Given the description of an element on the screen output the (x, y) to click on. 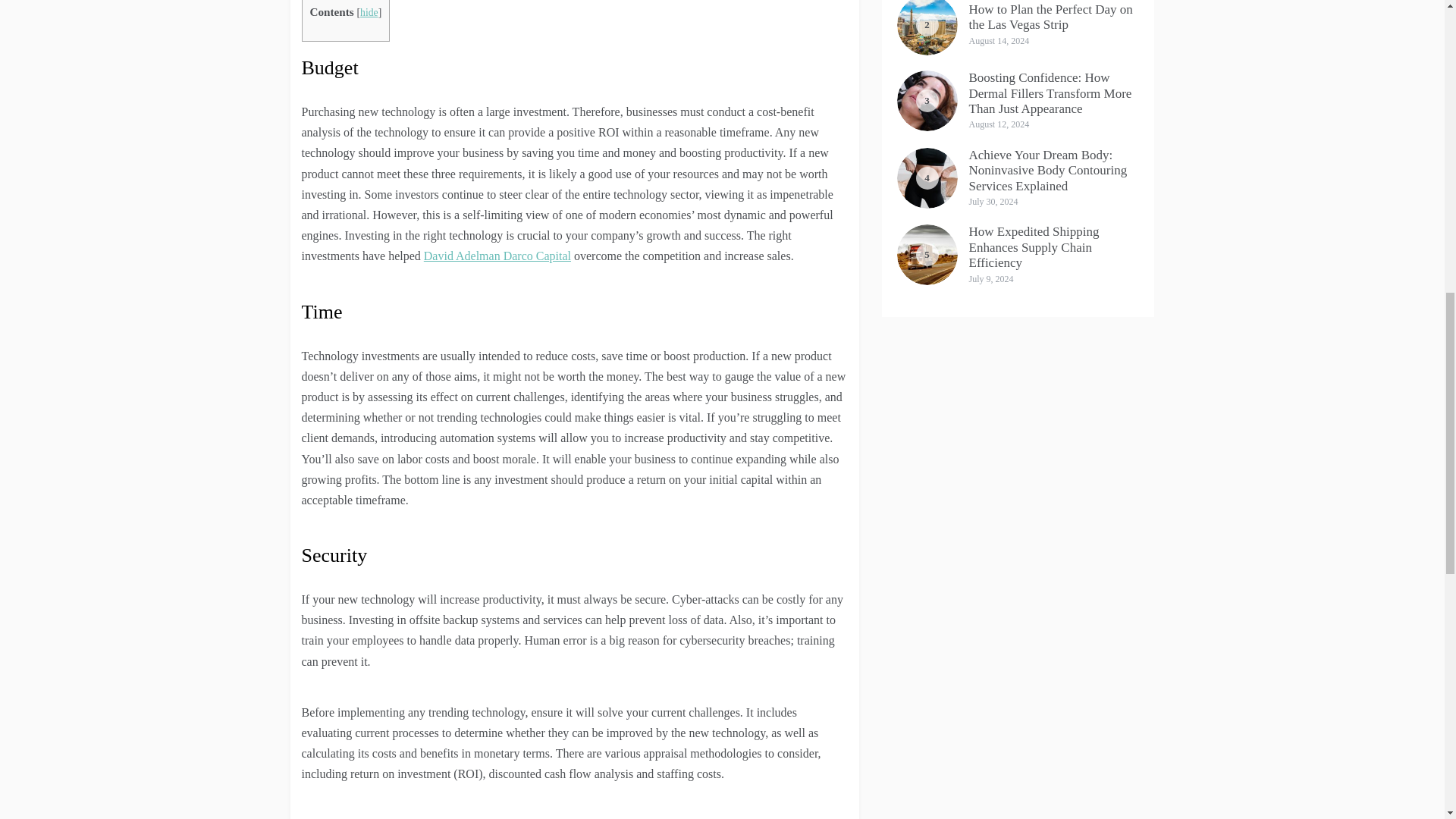
How to Plan the Perfect Day on the Las Vegas Strip (1050, 16)
How Expedited Shipping Enhances Supply Chain Efficiency (1034, 247)
David Adelman Darco Capital (496, 255)
hide (368, 12)
